Given the description of an element on the screen output the (x, y) to click on. 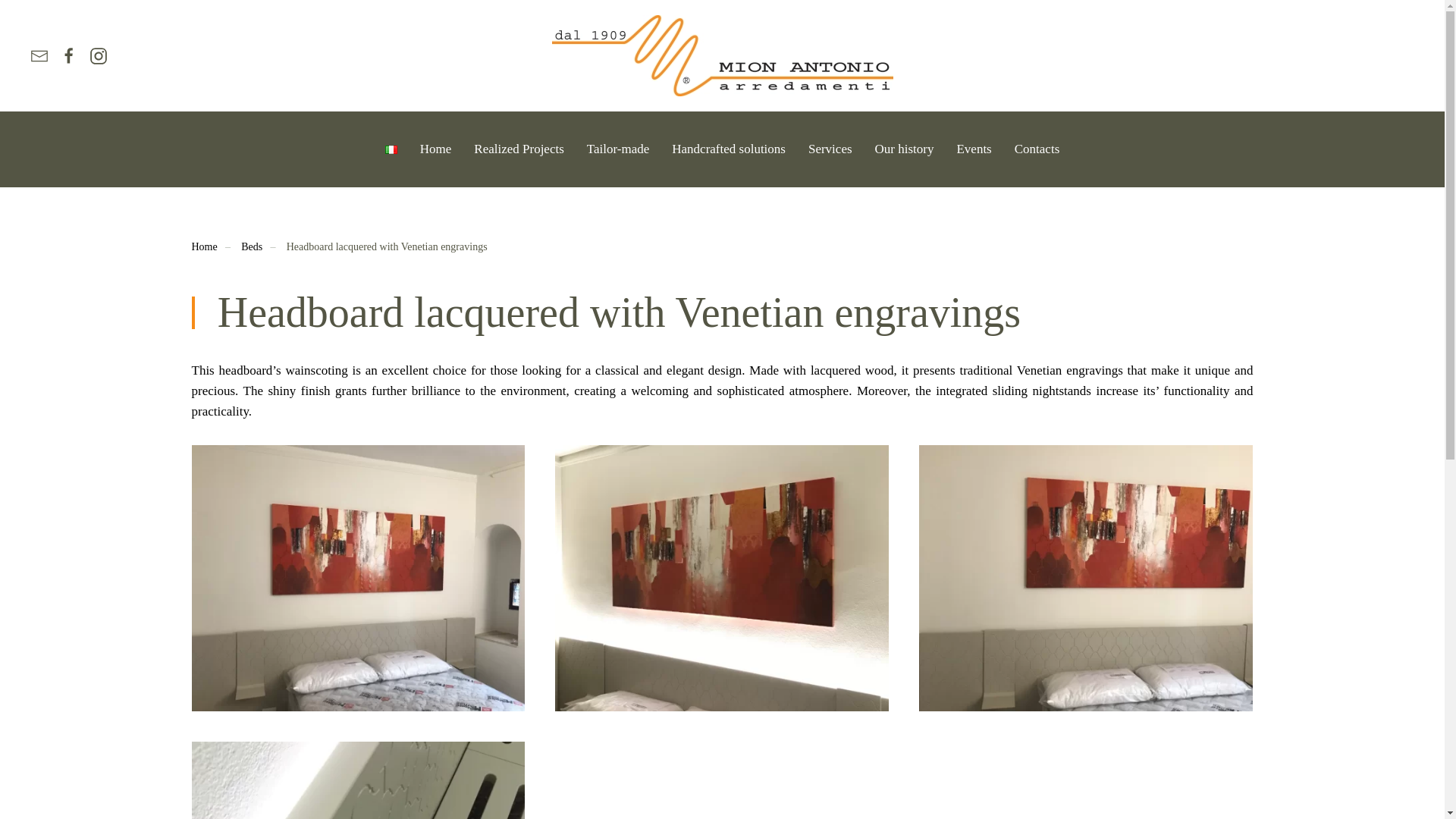
Realized Projects (519, 149)
Beds (251, 246)
Handcrafted solutions (728, 149)
Home (203, 246)
